Given the description of an element on the screen output the (x, y) to click on. 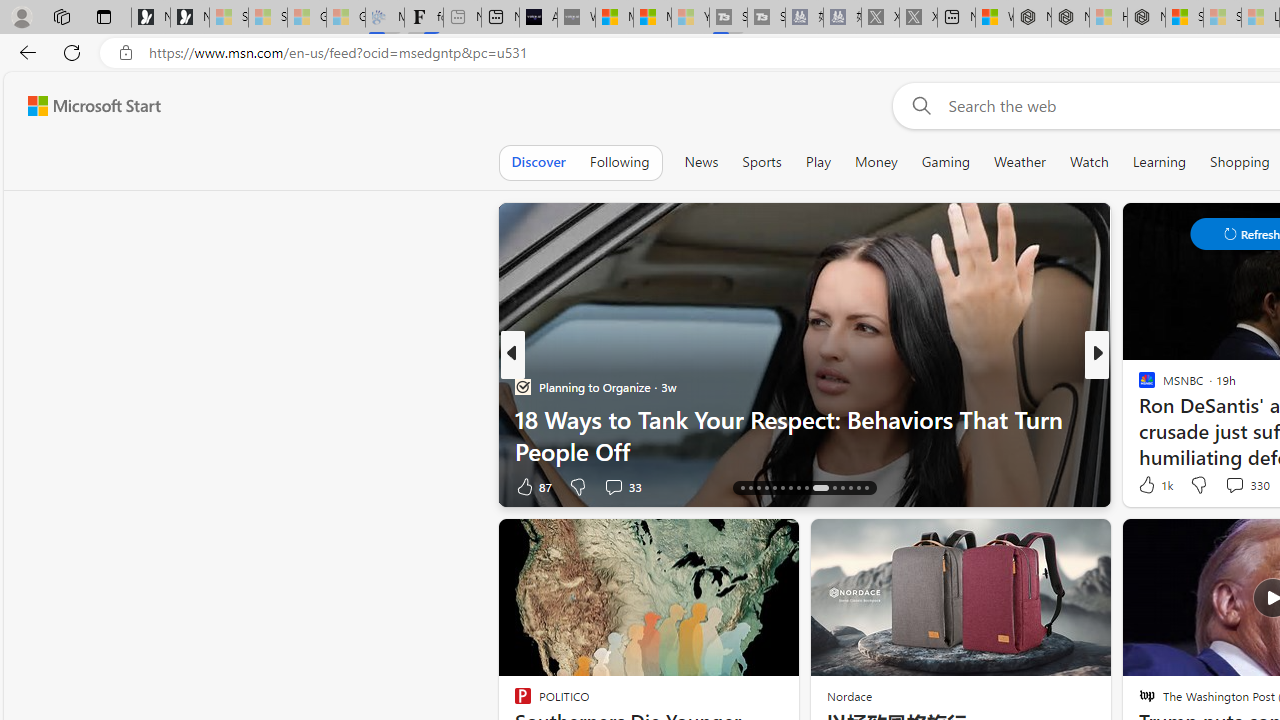
Skip to content (86, 105)
AutomationID: tab-29 (857, 487)
AutomationID: tab-30 (865, 487)
Web search (917, 105)
Shopping (1240, 161)
Hide this story (738, 542)
Weather (1019, 162)
Nordace - Summer Adventures 2024 (1070, 17)
AutomationID: tab-22 (789, 487)
AutomationID: tab-23 (797, 487)
You're following FOX News (445, 490)
What's the best AI voice generator? - voice.ai - Sleeping (576, 17)
Back (24, 52)
Money (876, 162)
